Given the description of an element on the screen output the (x, y) to click on. 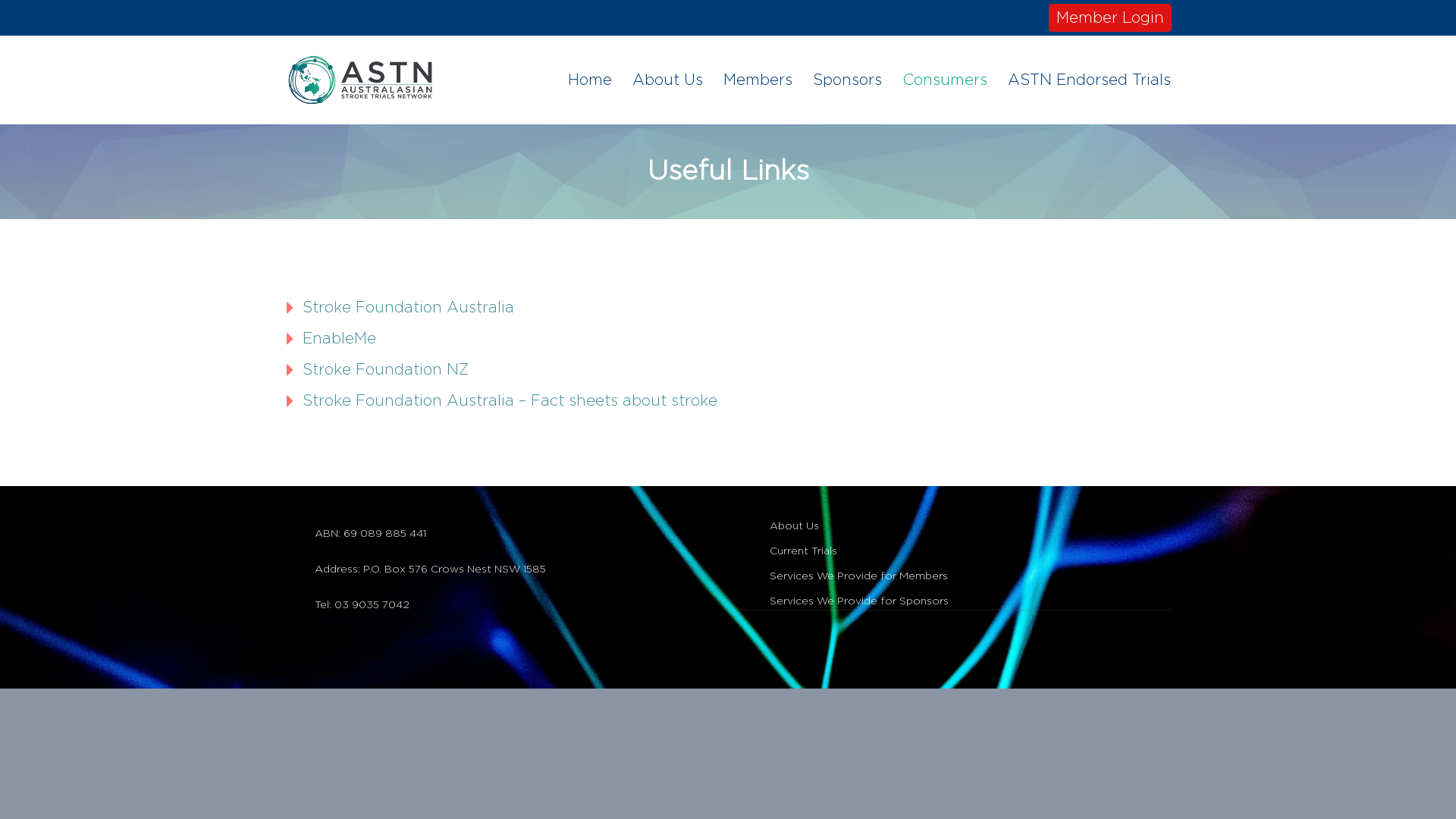
Stroke Foundation NZ Element type: text (385, 369)
Services We Provide for Members Element type: text (955, 570)
Consumers Element type: text (937, 79)
Member Login Element type: text (1110, 17)
EnableMe Element type: text (339, 338)
Sponsors Element type: text (839, 79)
Home Element type: text (582, 79)
Members Element type: text (750, 79)
Current Trials Element type: text (955, 545)
ASTN Endorsed Trials Element type: text (1081, 79)
About Us Element type: text (955, 520)
Services We Provide for Sponsors Element type: text (955, 595)
About Us Element type: text (660, 79)
Stroke Foundation Australia Element type: text (408, 307)
